Given the description of an element on the screen output the (x, y) to click on. 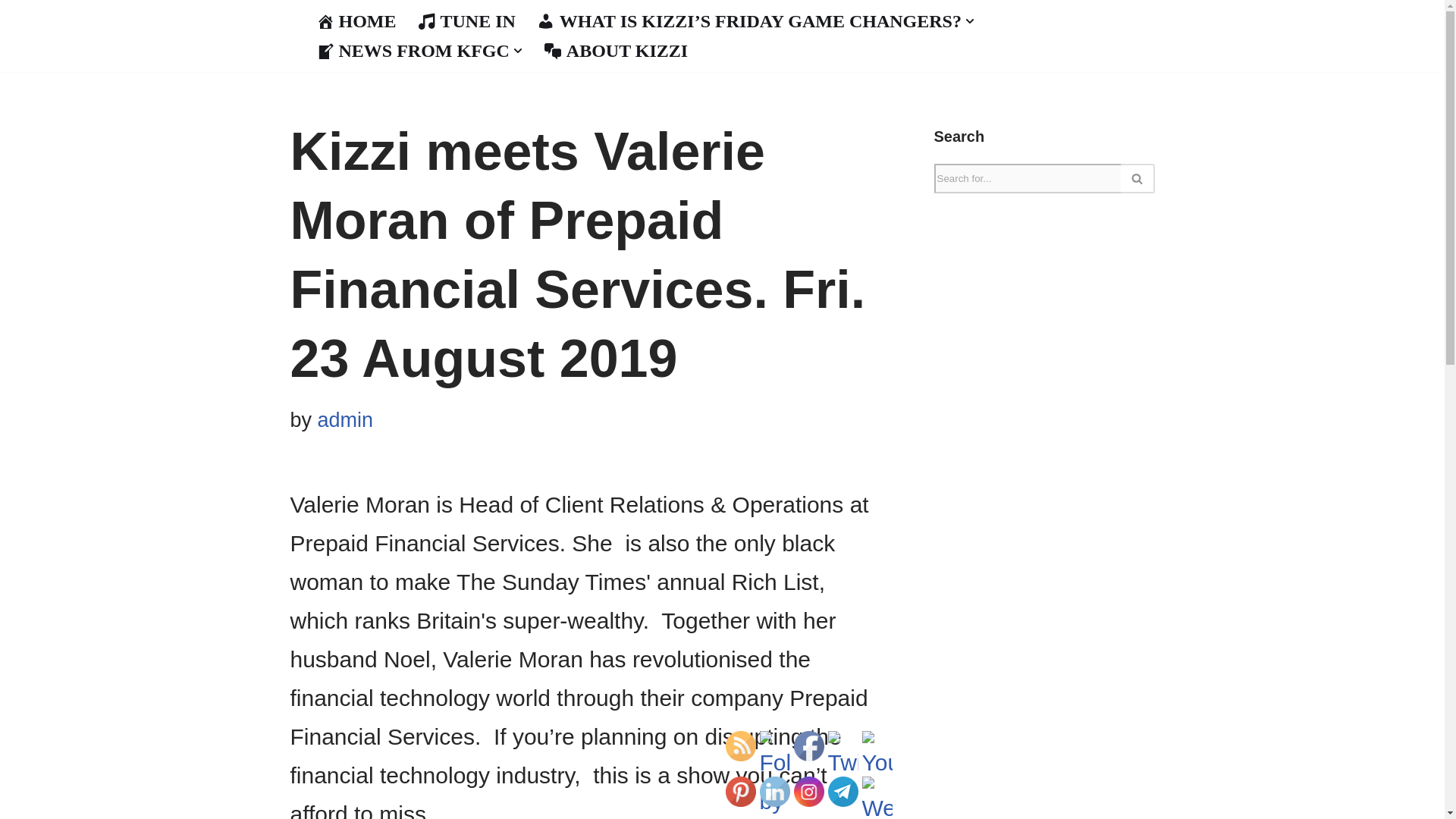
Posts by admin (345, 419)
LinkedIn (775, 791)
TUNE IN (465, 20)
NEWS FROM KFGC (411, 50)
ABOUT KIZZI (615, 50)
RSS (740, 746)
Instagram (808, 791)
Telegram (843, 791)
Pinterest (740, 791)
HOME (355, 20)
